Given the description of an element on the screen output the (x, y) to click on. 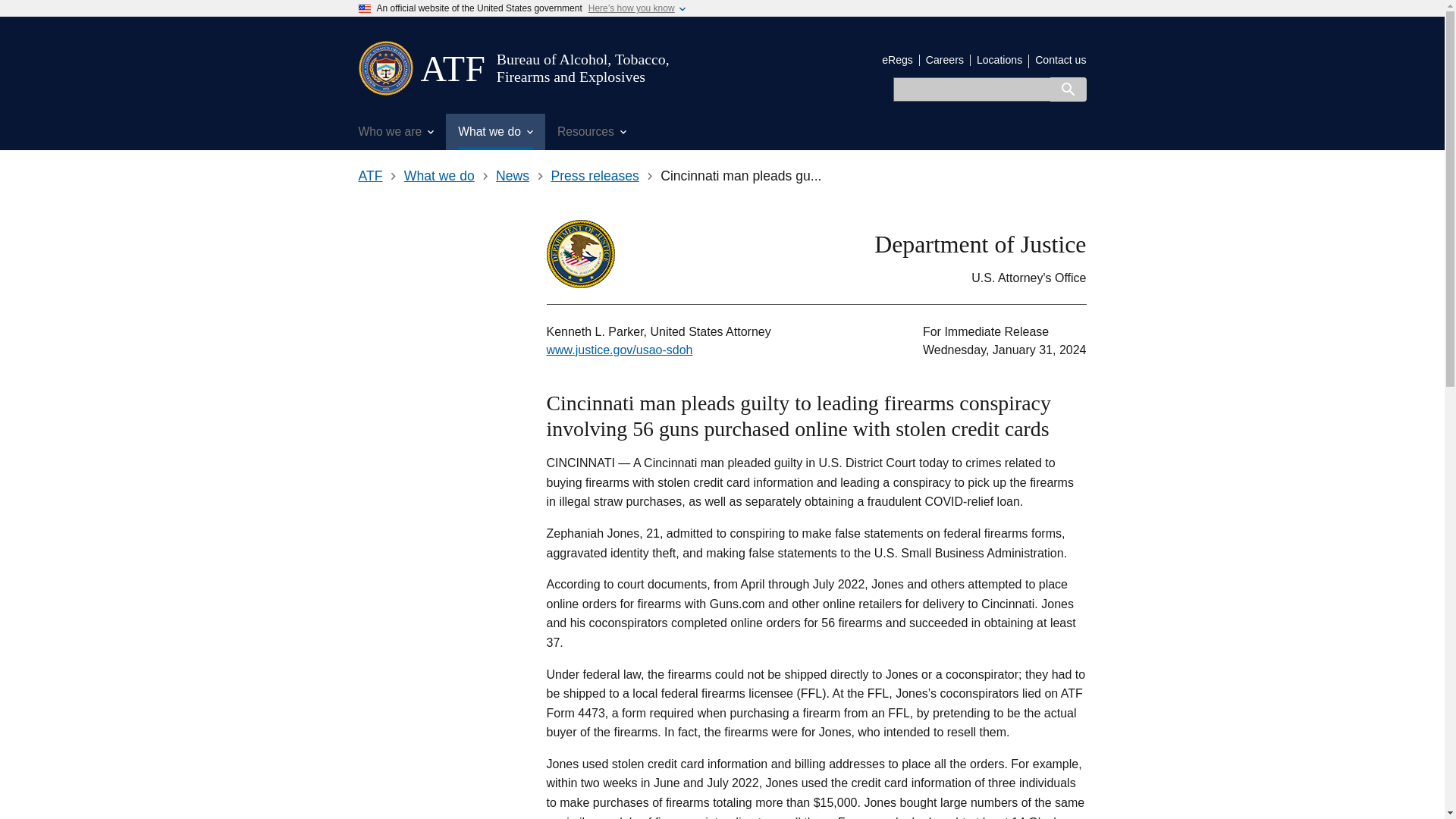
Who we are (395, 131)
ATF (452, 68)
Locations (999, 59)
What we do (494, 131)
Resources (591, 131)
Search (1067, 88)
Careers (944, 59)
ATF (452, 68)
News (512, 175)
Press releases (594, 175)
